Given the description of an element on the screen output the (x, y) to click on. 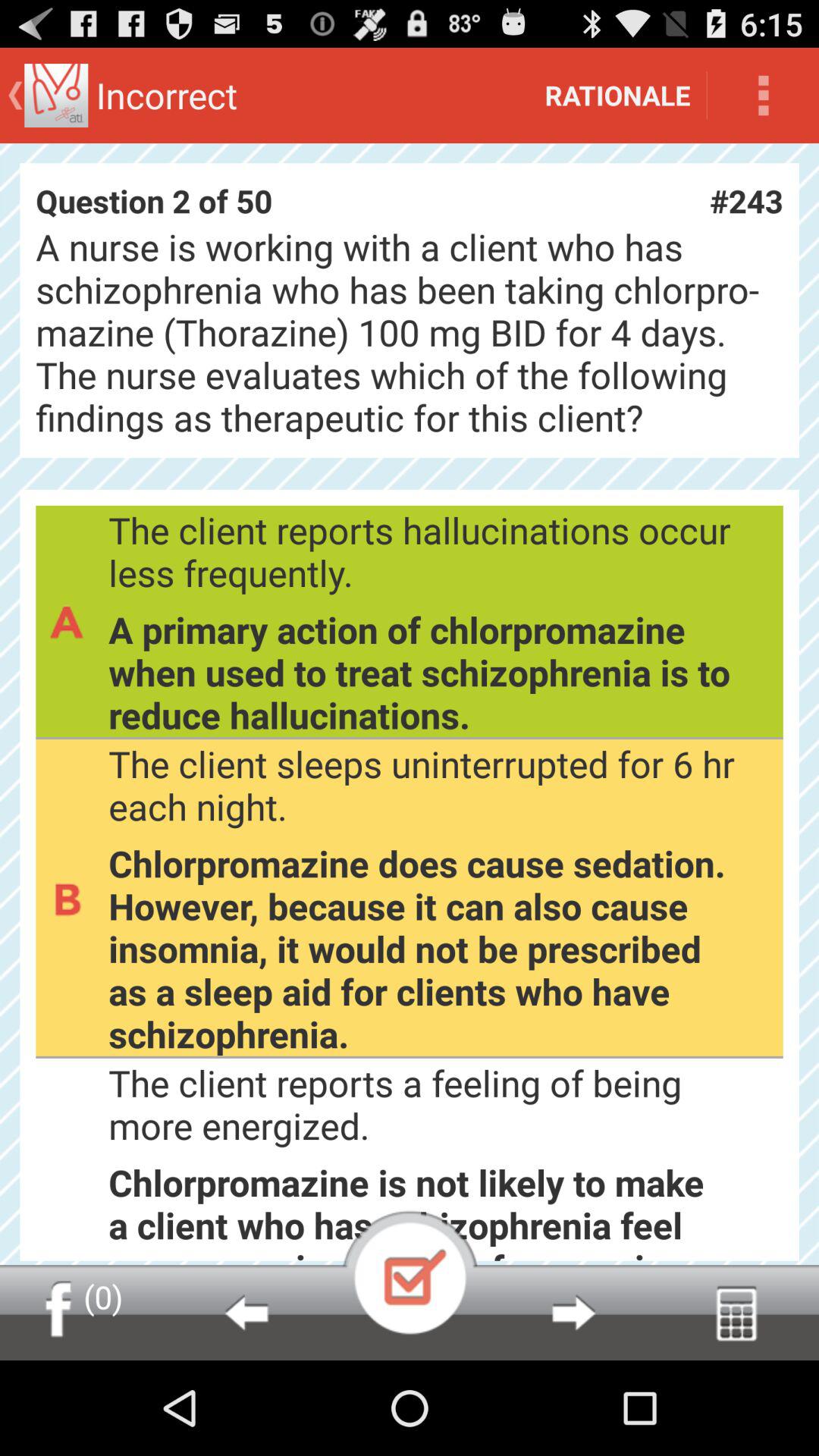
choose item below the chlorpromazine is not icon (245, 1312)
